Given the description of an element on the screen output the (x, y) to click on. 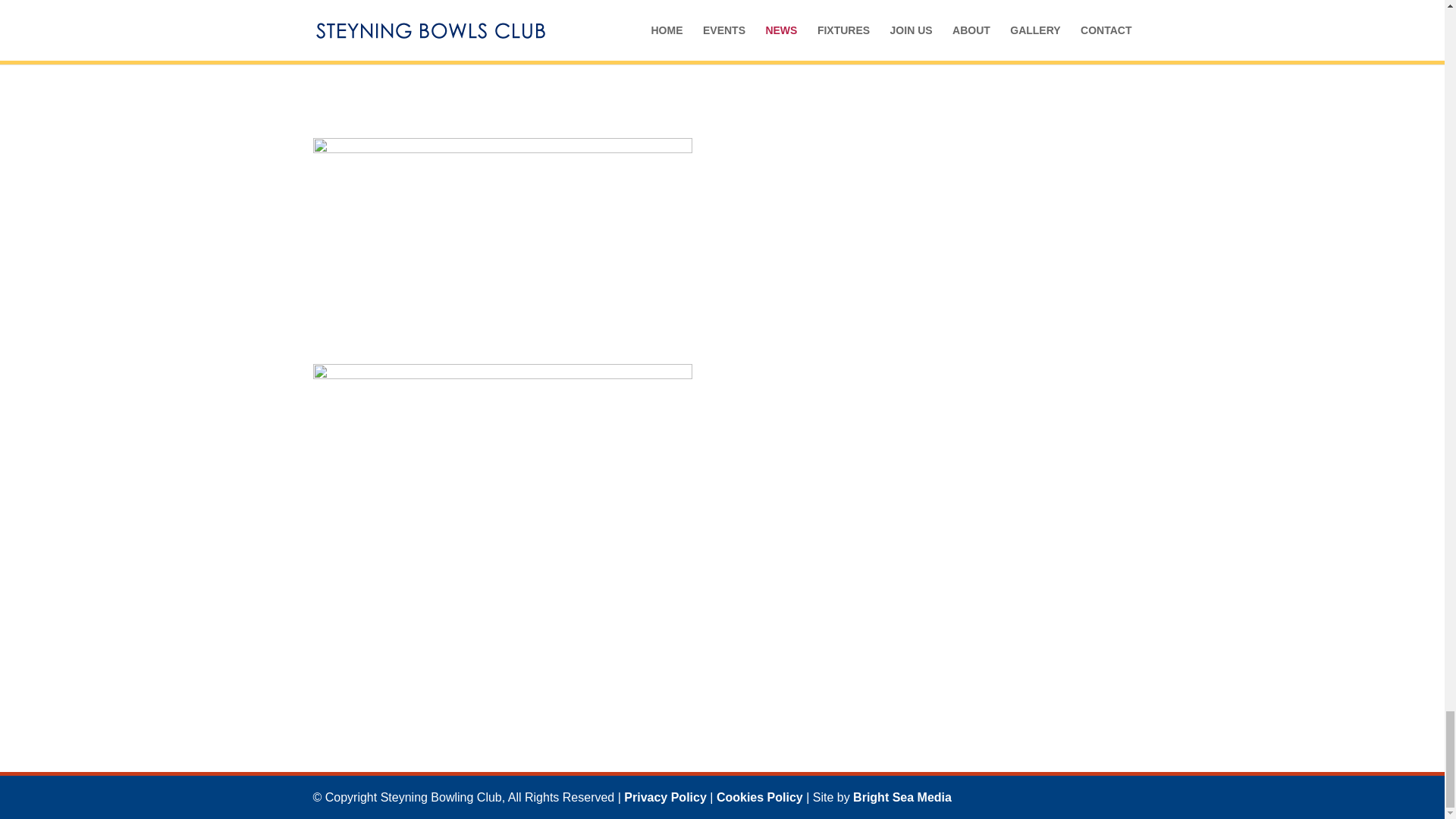
Privacy Policy (665, 797)
Bright Sea Media (902, 797)
Cookies Policy (759, 797)
